Given the description of an element on the screen output the (x, y) to click on. 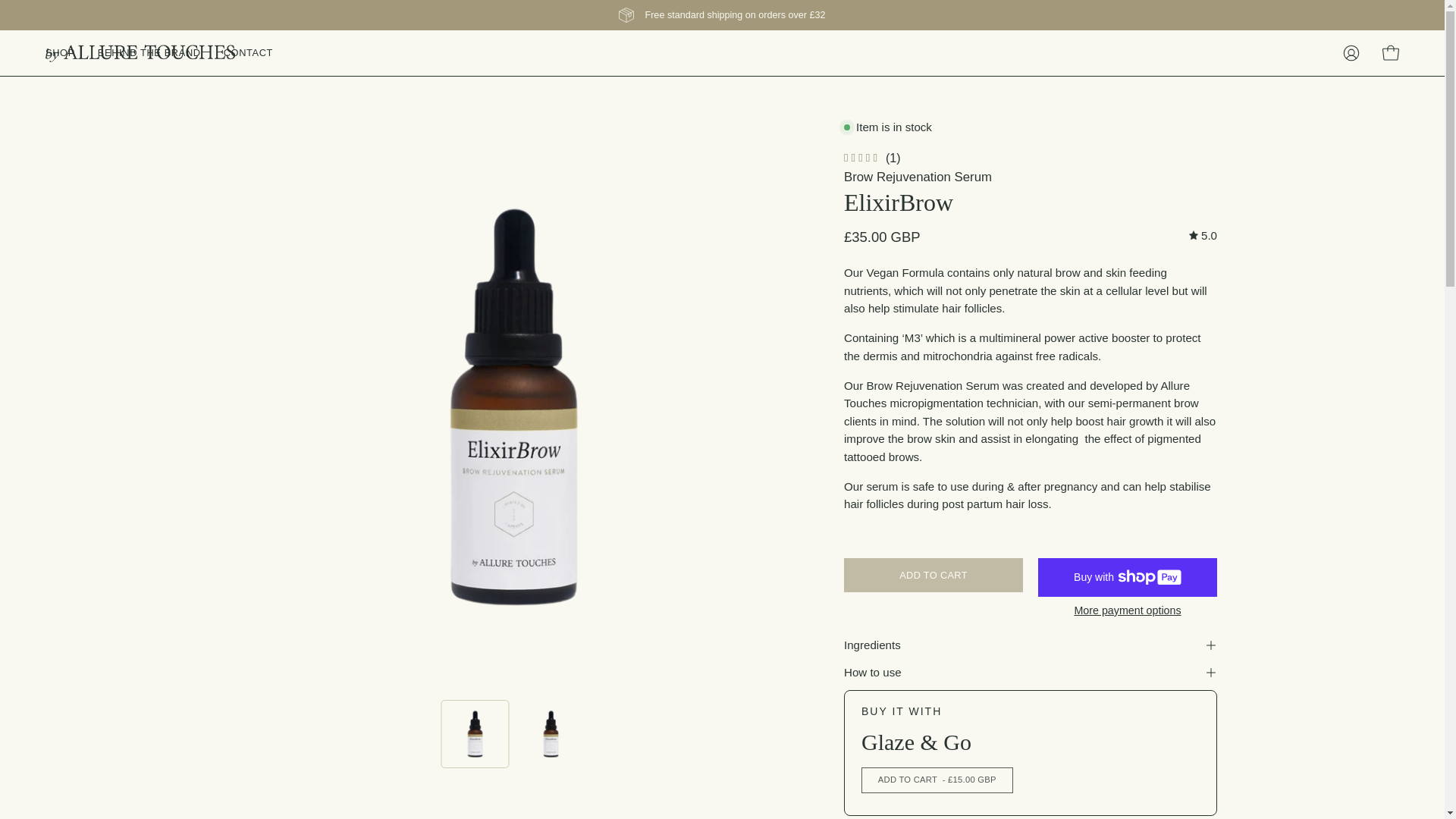
SHOP (59, 53)
